Given the description of an element on the screen output the (x, y) to click on. 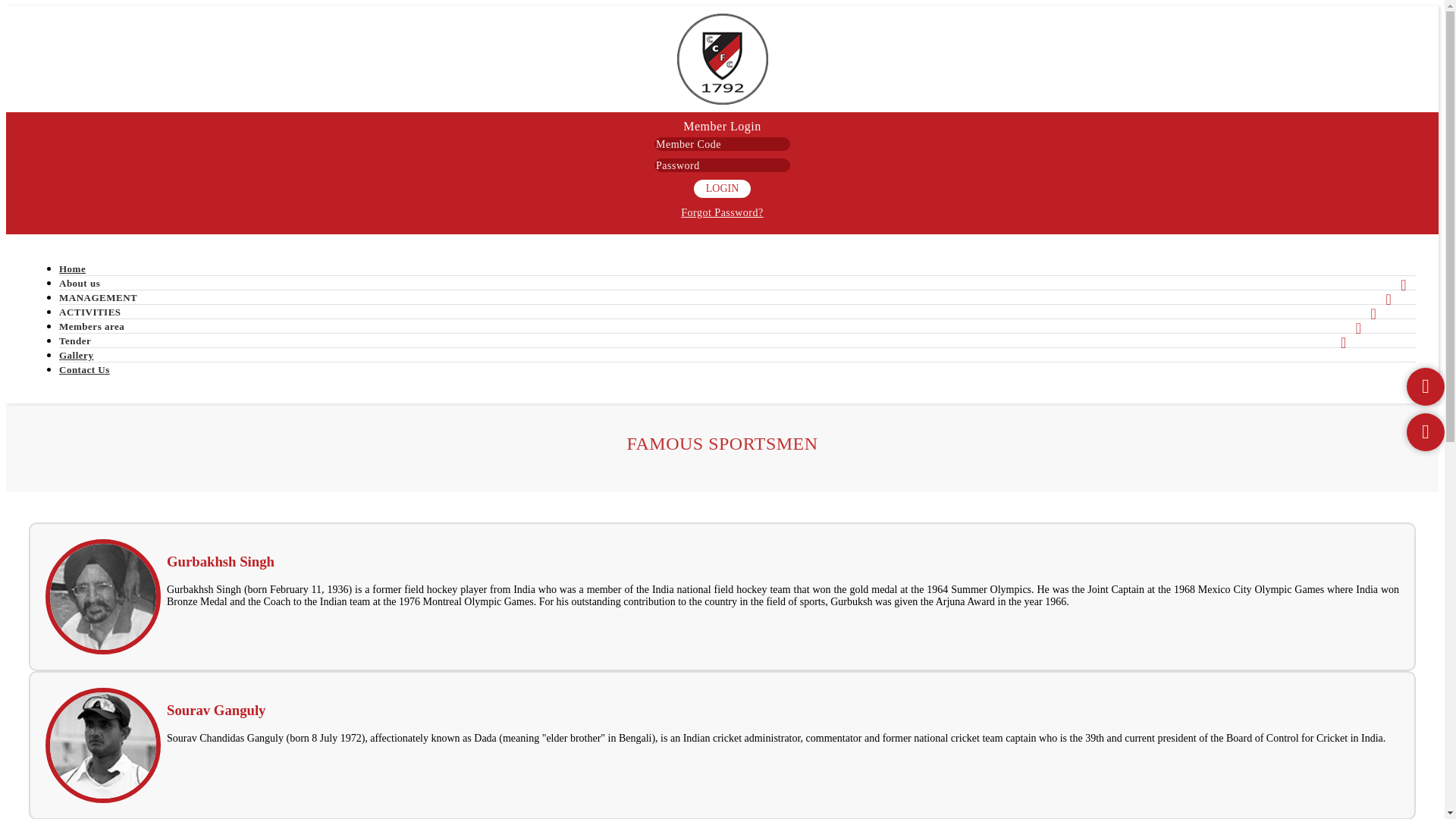
About us (79, 282)
Contact Us (84, 369)
Tender (74, 340)
Home (72, 268)
Home (722, 58)
ACTIVITIES (89, 312)
LOGIN (722, 188)
Forgot Password? (721, 212)
Members area (91, 325)
Gallery (76, 354)
